Given the description of an element on the screen output the (x, y) to click on. 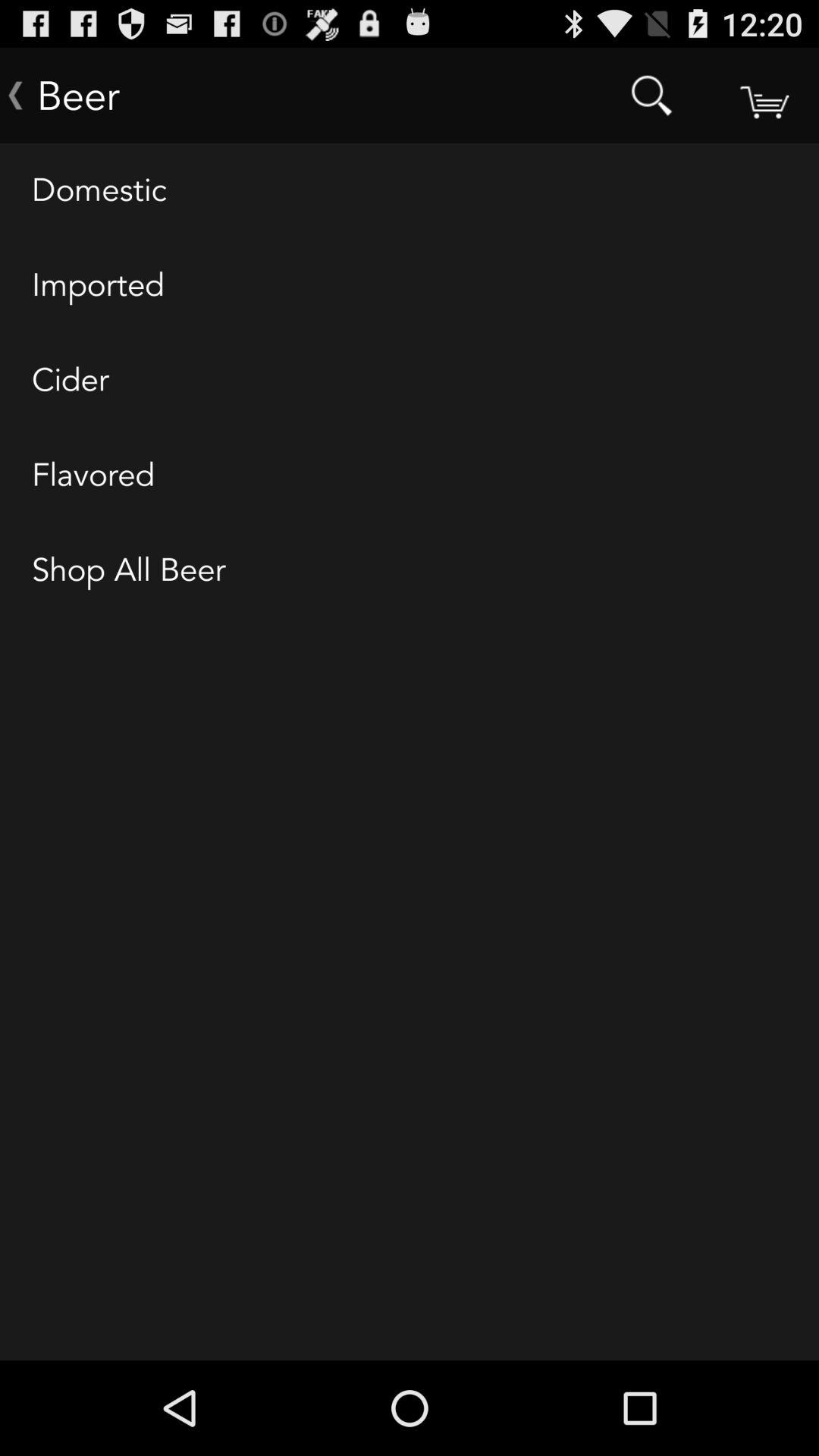
swipe until flavored icon (409, 475)
